Given the description of an element on the screen output the (x, y) to click on. 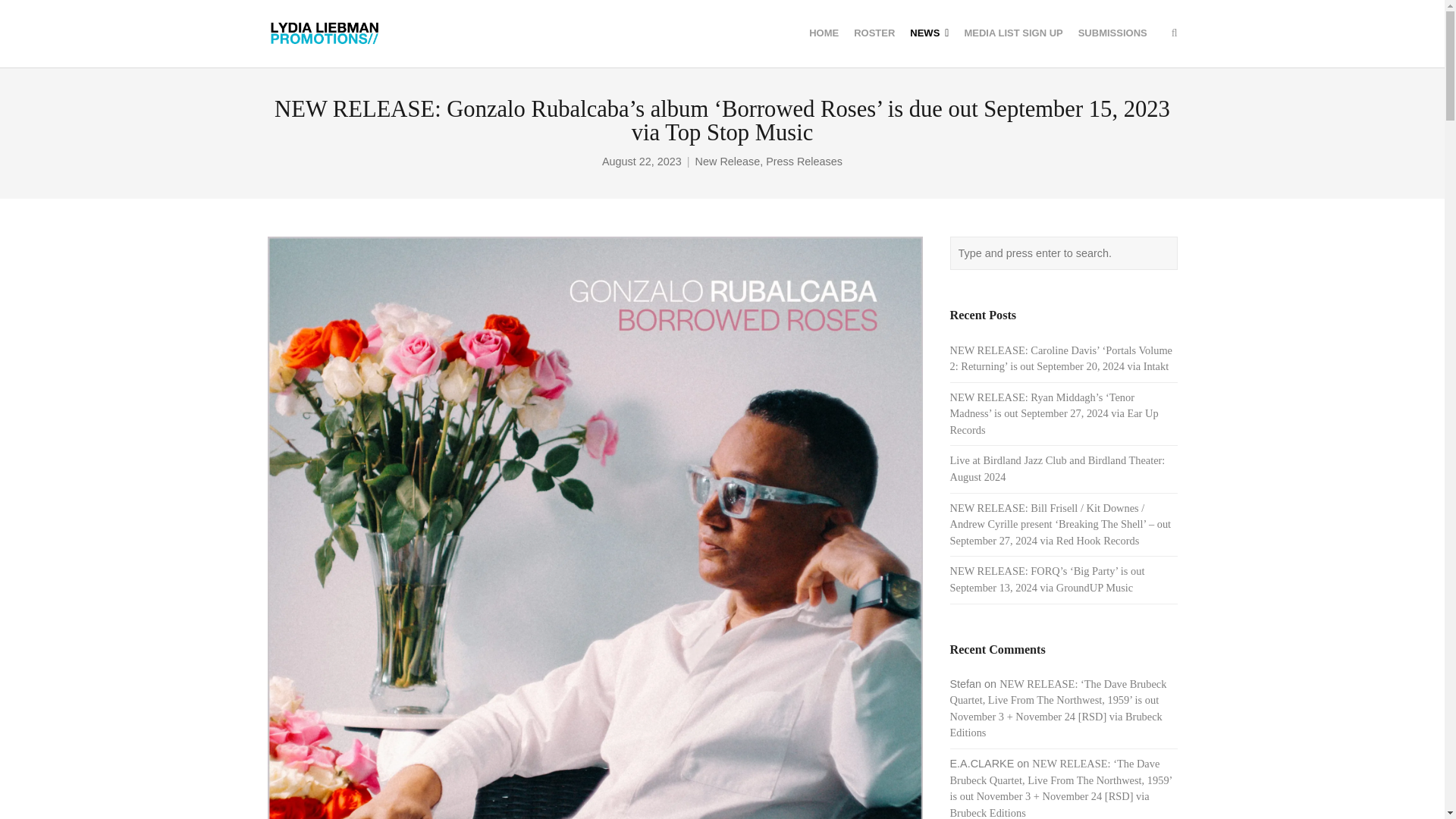
MEDIA LIST SIGN UP (1013, 33)
New Release (727, 161)
NEWS (929, 33)
View all posts in New Release (727, 161)
Live at Birdland Jazz Club and Birdland Theater: August 2024 (1056, 468)
SUBMISSIONS (1112, 33)
View all posts in Press Releases (804, 161)
HOME (823, 33)
ROSTER (873, 33)
Press Releases (804, 161)
